Given the description of an element on the screen output the (x, y) to click on. 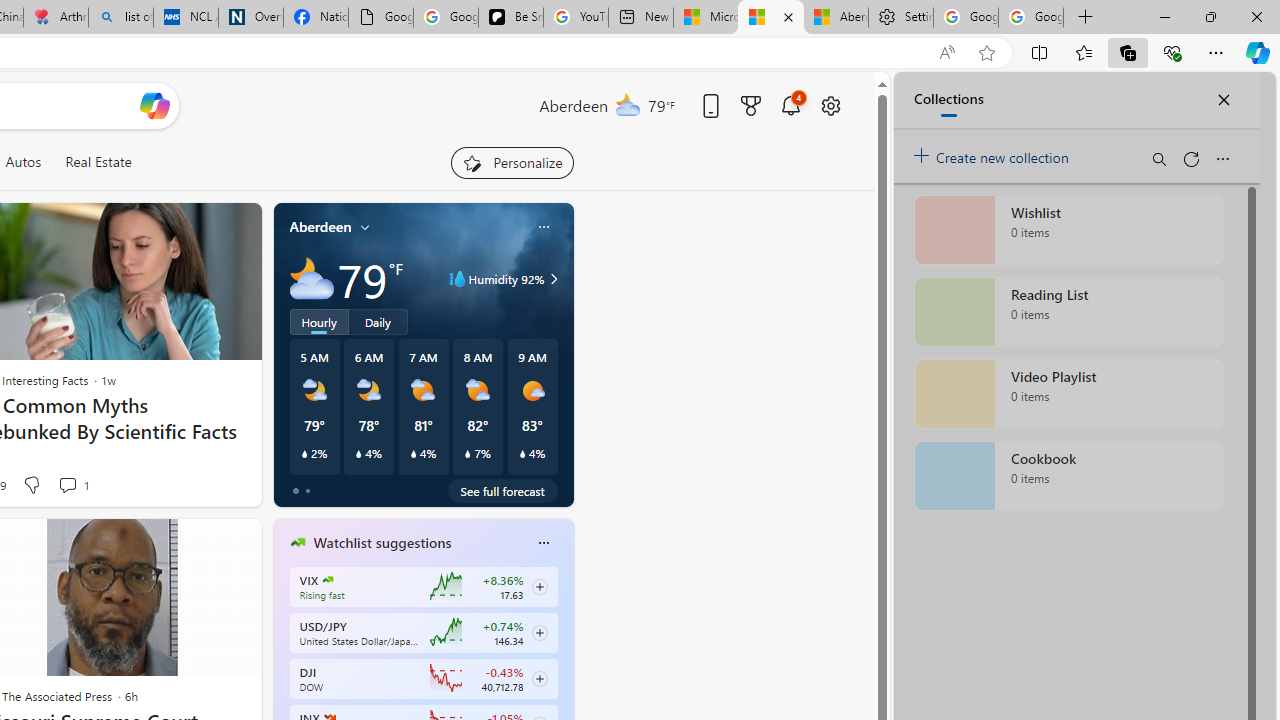
Class: follow-button  m (539, 678)
Mostly cloudy (311, 278)
